Given the description of an element on the screen output the (x, y) to click on. 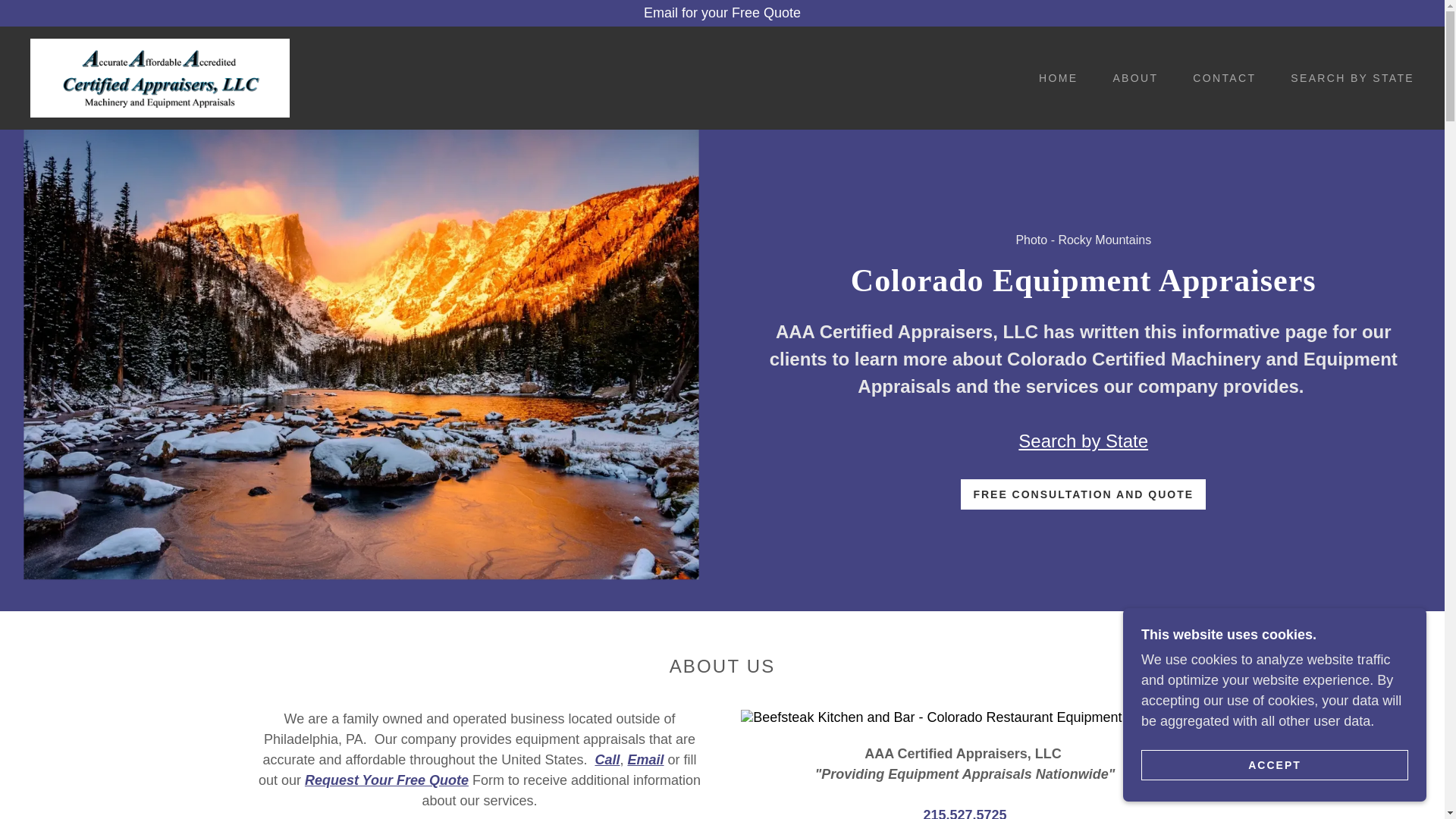
ABOUT (1129, 77)
Request Your Free Quote (386, 780)
SEARCH BY STATE (1346, 77)
Email (645, 759)
215.527.5725 (964, 813)
HOME (1052, 77)
Call (607, 759)
CONTACT (1218, 77)
Search by State (1082, 440)
FREE CONSULTATION AND QUOTE (1082, 494)
